Given the description of an element on the screen output the (x, y) to click on. 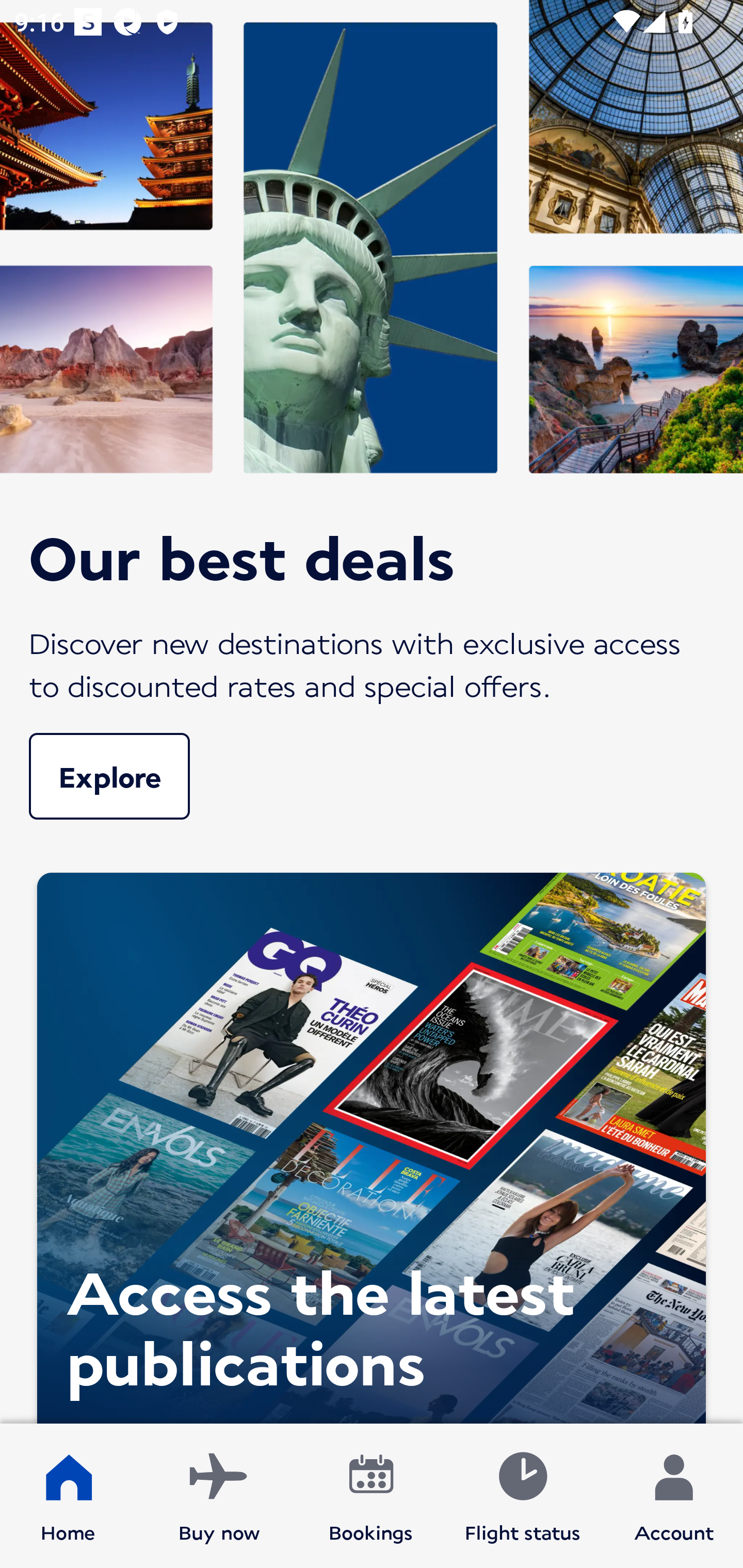
Access the latest publications (371, 1142)
Buy now (219, 1495)
Bookings (370, 1495)
Flight status (522, 1495)
Account (674, 1495)
